Given the description of an element on the screen output the (x, y) to click on. 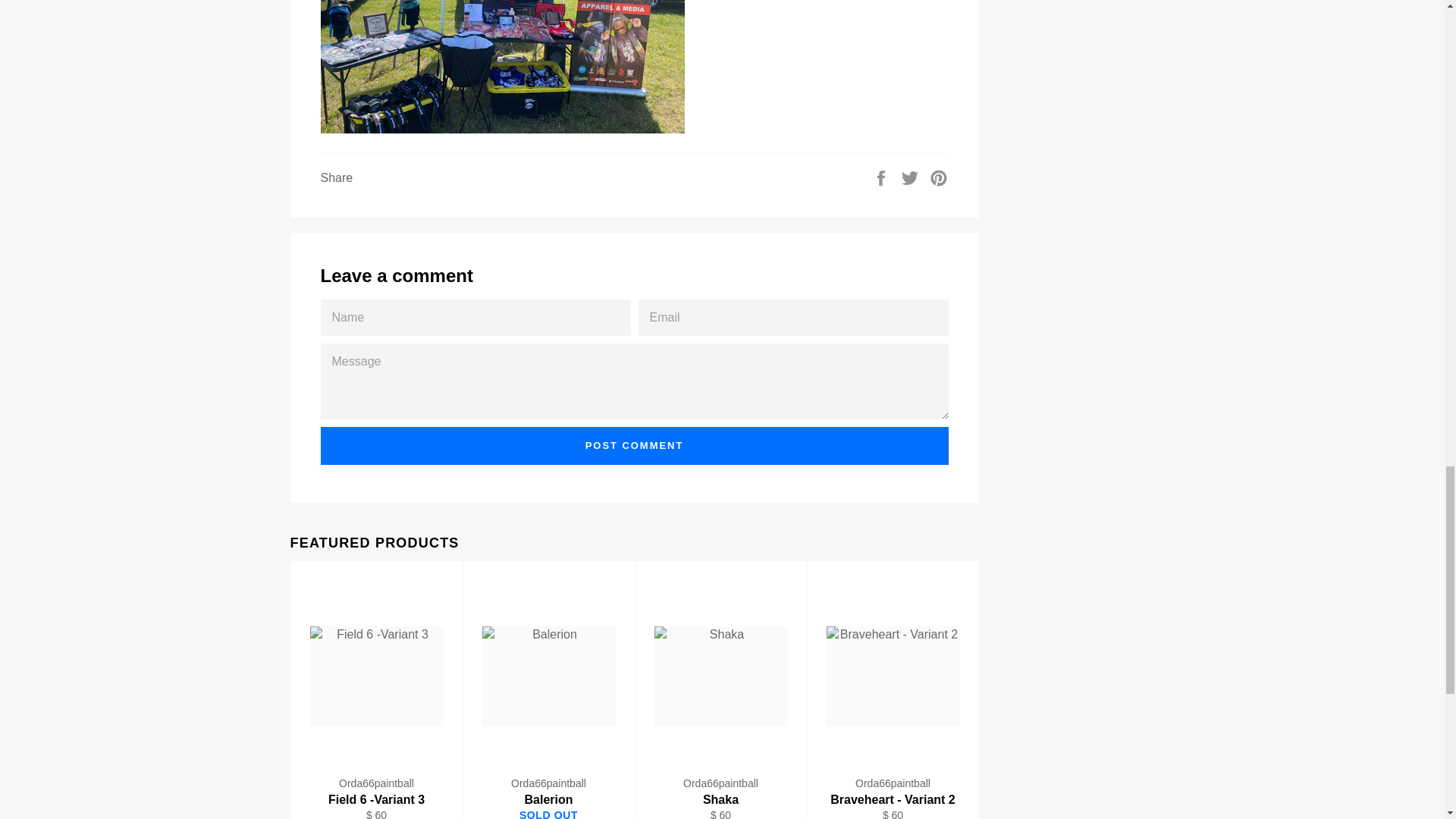
Share on Facebook (882, 176)
Tweet on Twitter (911, 176)
Post comment (633, 445)
Pin on Pinterest (938, 176)
